Given the description of an element on the screen output the (x, y) to click on. 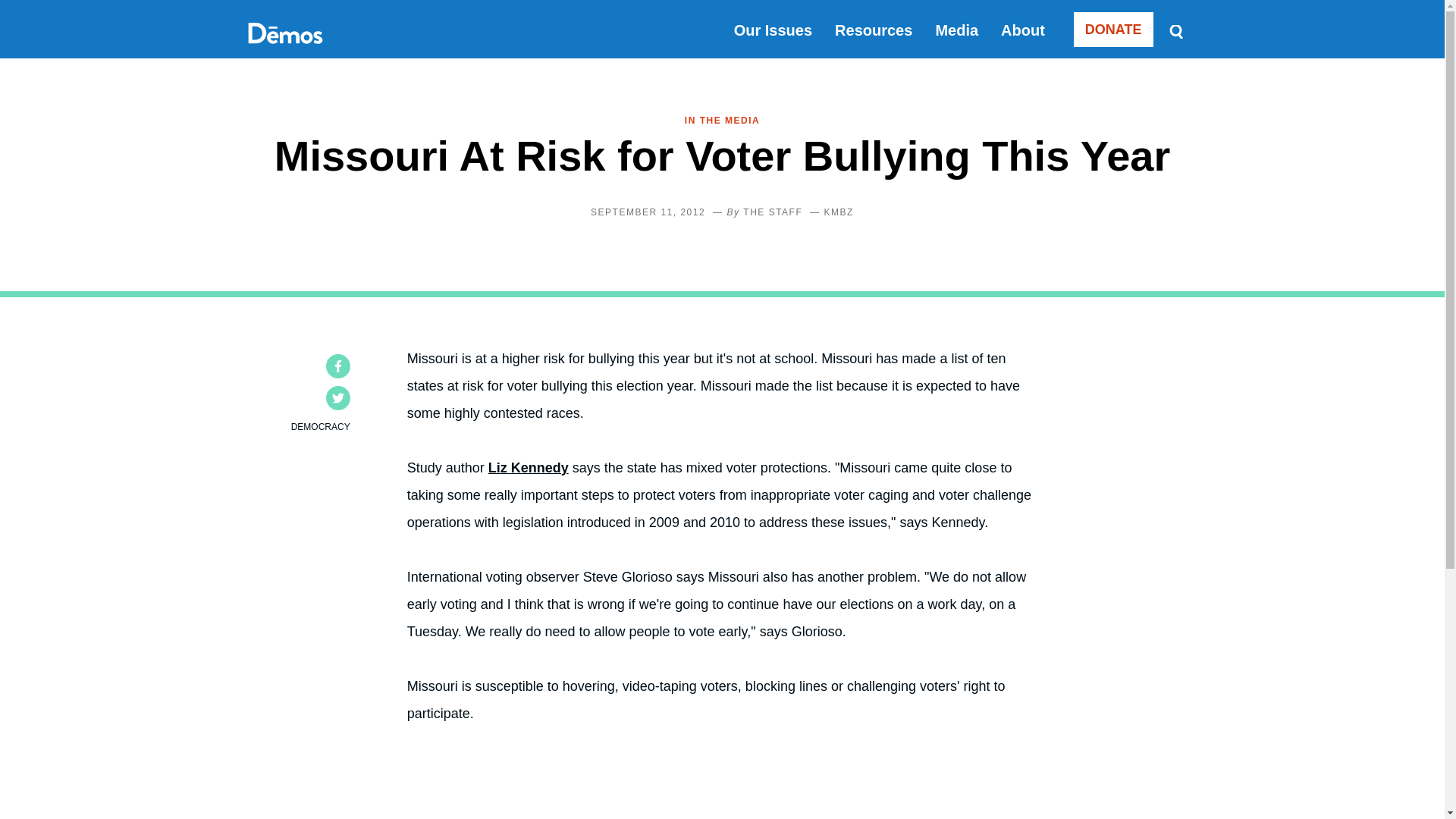
Search (1176, 30)
Resources (873, 30)
KMBZ (838, 212)
Search (1176, 30)
Facebook (338, 365)
Liz Kennedy (528, 467)
About (1023, 30)
Media (956, 30)
DEMOCRACY (320, 426)
